Given the description of an element on the screen output the (x, y) to click on. 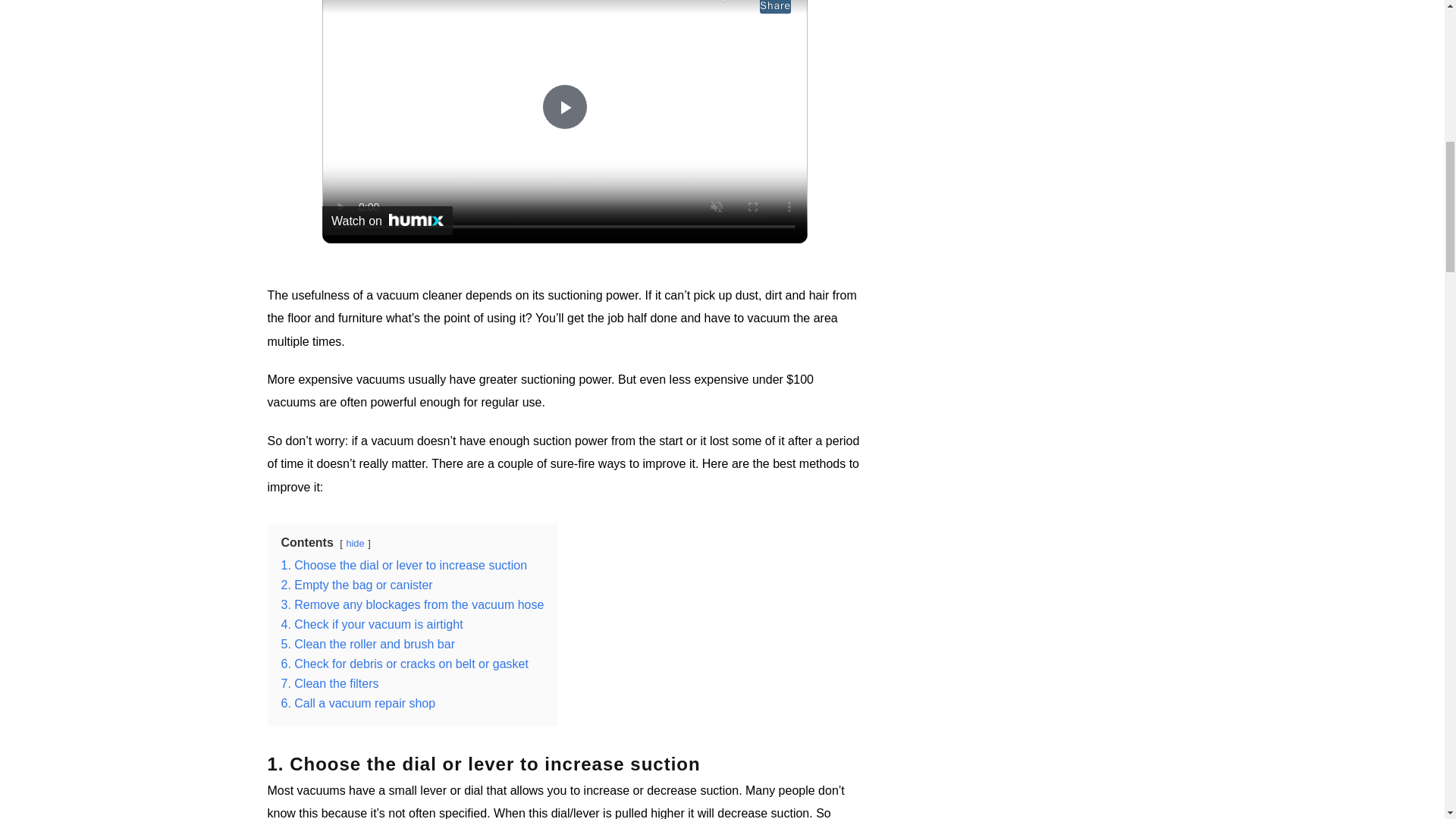
7. Clean the filters (329, 683)
6. Call a vacuum repair shop (358, 703)
1. Choose the dial or lever to increase suction (404, 564)
hide (355, 542)
Play Video (564, 106)
Share (775, 6)
2. Empty the bag or canister (356, 584)
Watch on (386, 220)
Play Video (564, 106)
3. Remove any blockages from the vacuum hose (412, 604)
5. Clean the roller and brush bar (367, 644)
6. Check for debris or cracks on belt or gasket (404, 663)
4. Check if your vacuum is airtight (372, 624)
share (775, 6)
